Given the description of an element on the screen output the (x, y) to click on. 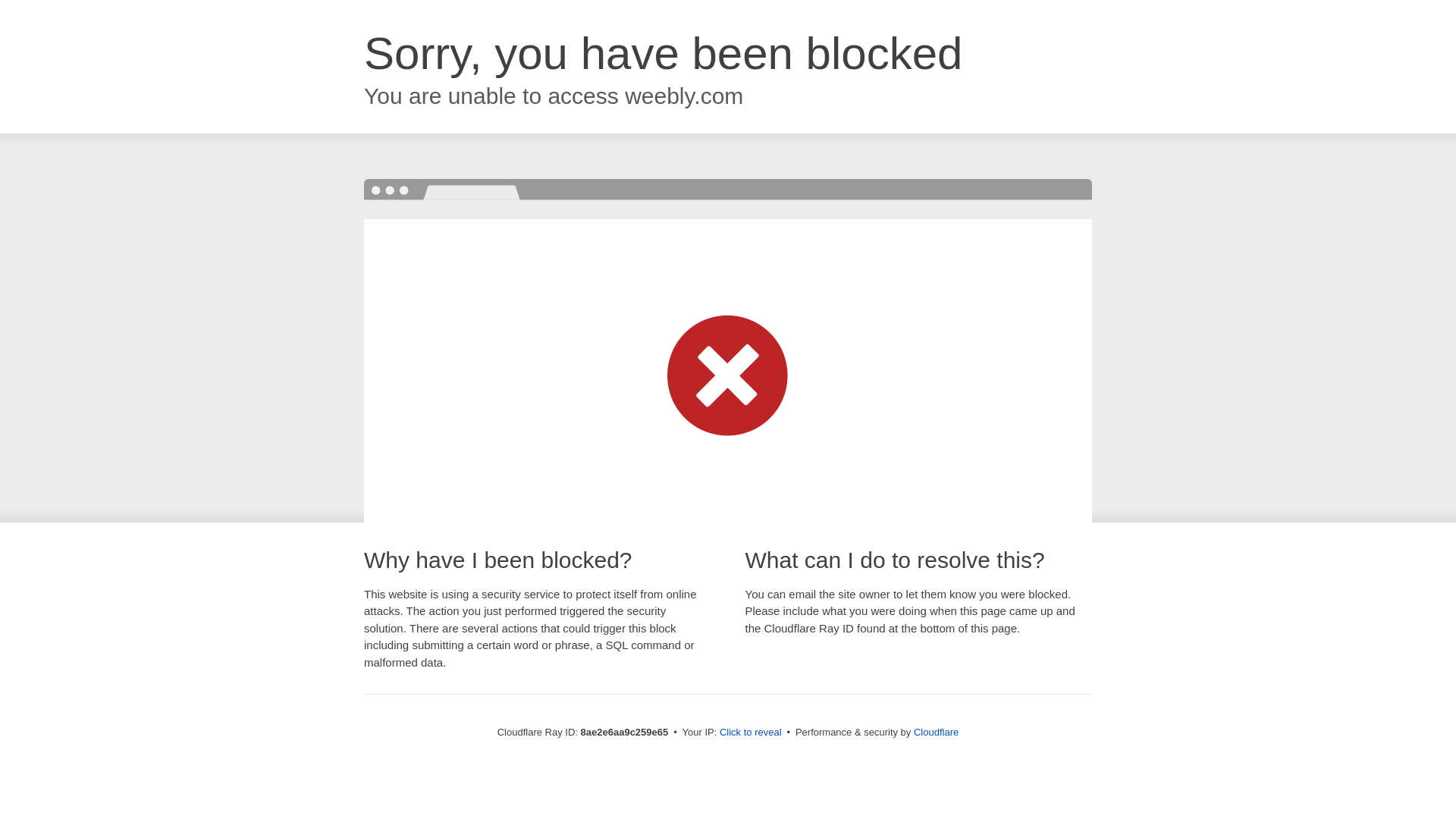
Click to reveal (750, 732)
Cloudflare (936, 731)
